Given the description of an element on the screen output the (x, y) to click on. 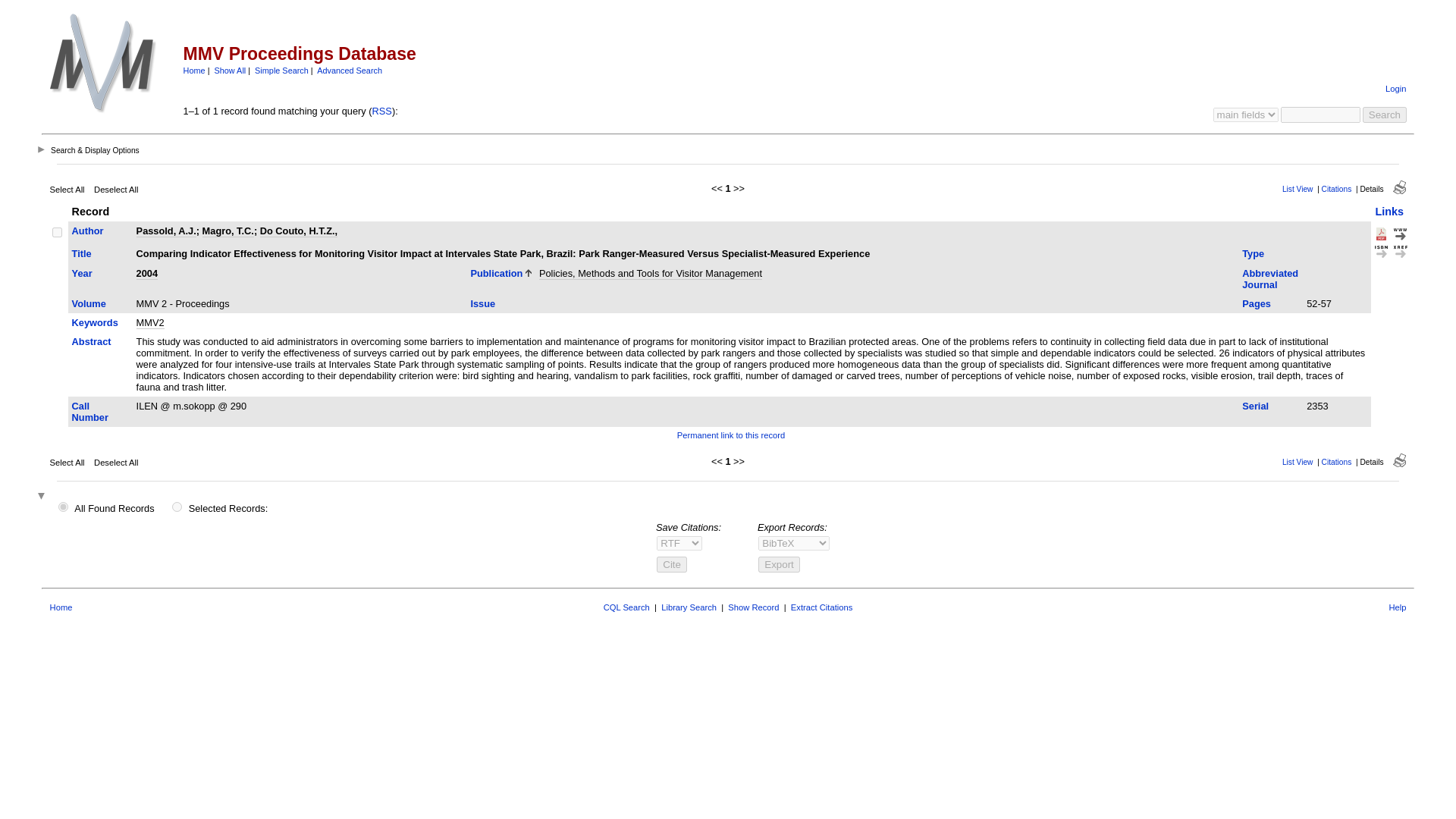
MMV2 (150, 322)
Export (778, 564)
search the literature database (1384, 114)
Deselect All (116, 189)
Keywords (94, 322)
2004 (146, 273)
1 (63, 506)
Abstract (91, 341)
Search (1384, 114)
List View (1297, 189)
Citations (1337, 189)
Author (87, 230)
Policies, Methods and Tools for Visitor Management (649, 273)
Advanced Search (349, 70)
